Given the description of an element on the screen output the (x, y) to click on. 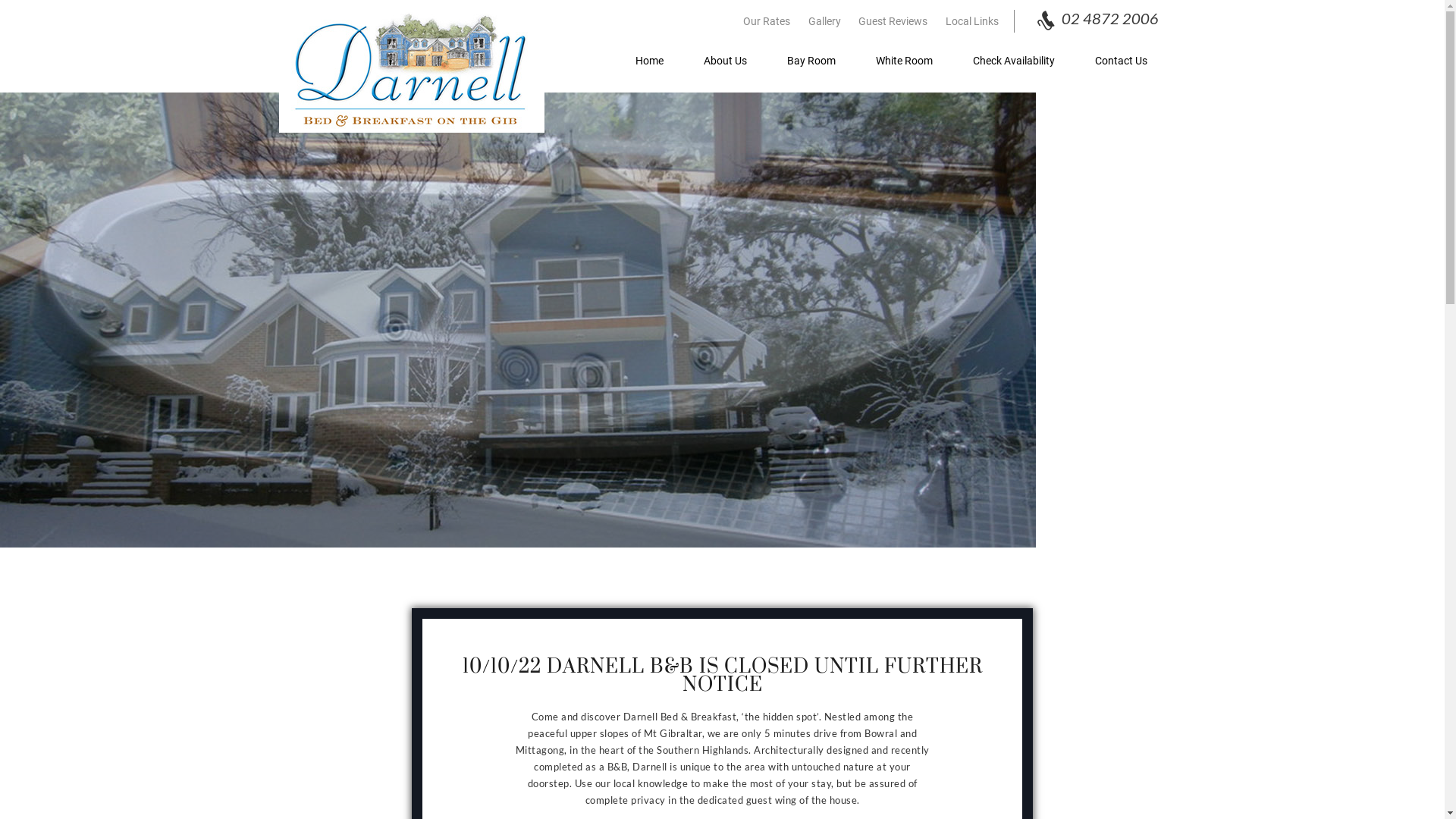
Check Availability Element type: text (1013, 60)
Our Rates Element type: text (766, 20)
Home Element type: text (648, 60)
About Us Element type: text (724, 60)
Contact Us Element type: text (1120, 60)
Local Links Element type: text (971, 20)
Gallery Element type: text (824, 20)
Guest Reviews Element type: text (892, 20)
White Room Element type: text (903, 60)
Bay Room Element type: text (810, 60)
